Given the description of an element on the screen output the (x, y) to click on. 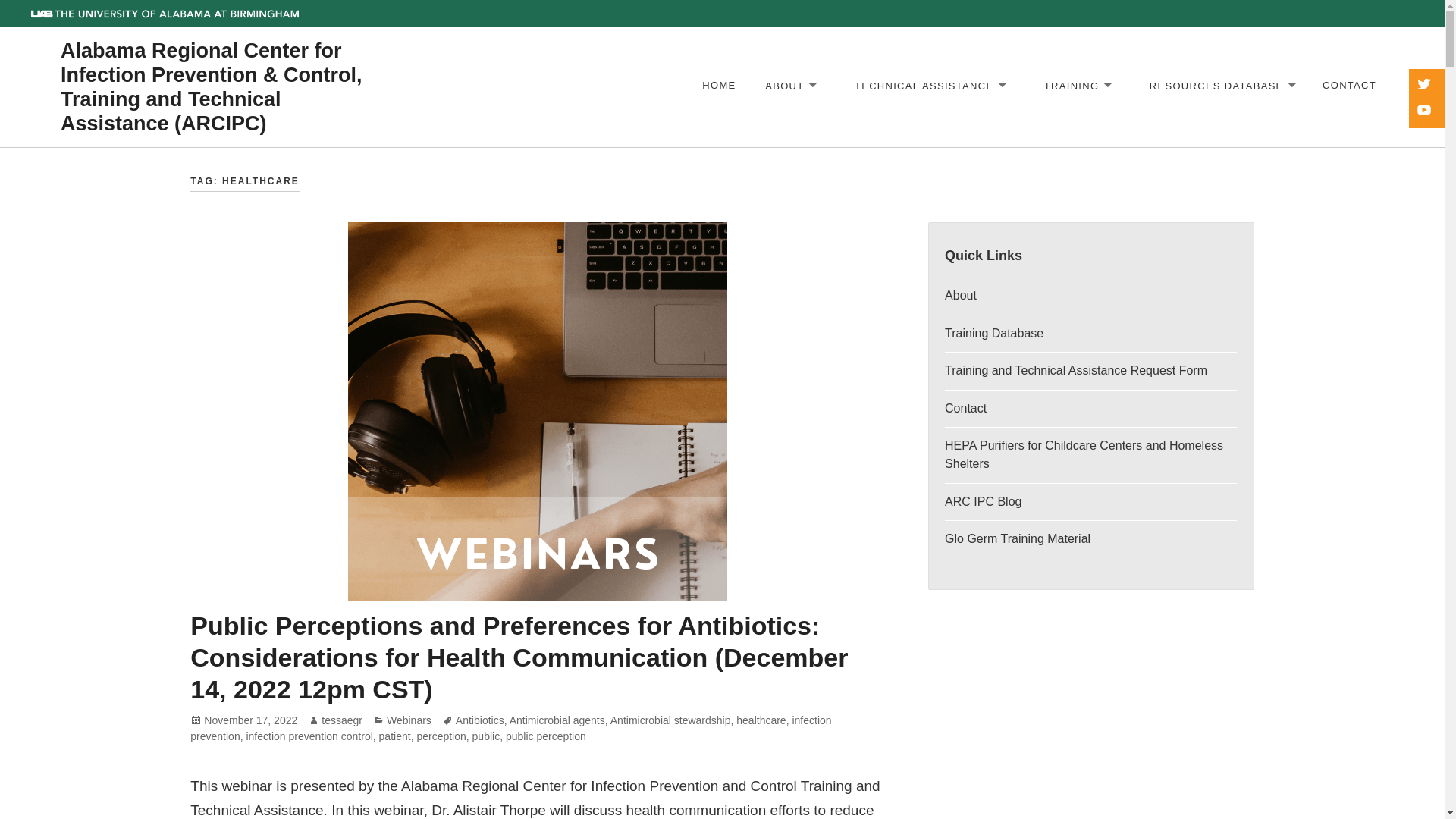
TECHNICAL ASSISTANCE (928, 86)
Antimicrobial agents (557, 720)
YouTube (1425, 111)
TRAINING (1075, 86)
Antimicrobial stewardship (670, 720)
healthcare (761, 720)
November 17, 2022 (250, 720)
Twitter (1425, 85)
ABOUT (789, 86)
Webinars (408, 720)
